Given the description of an element on the screen output the (x, y) to click on. 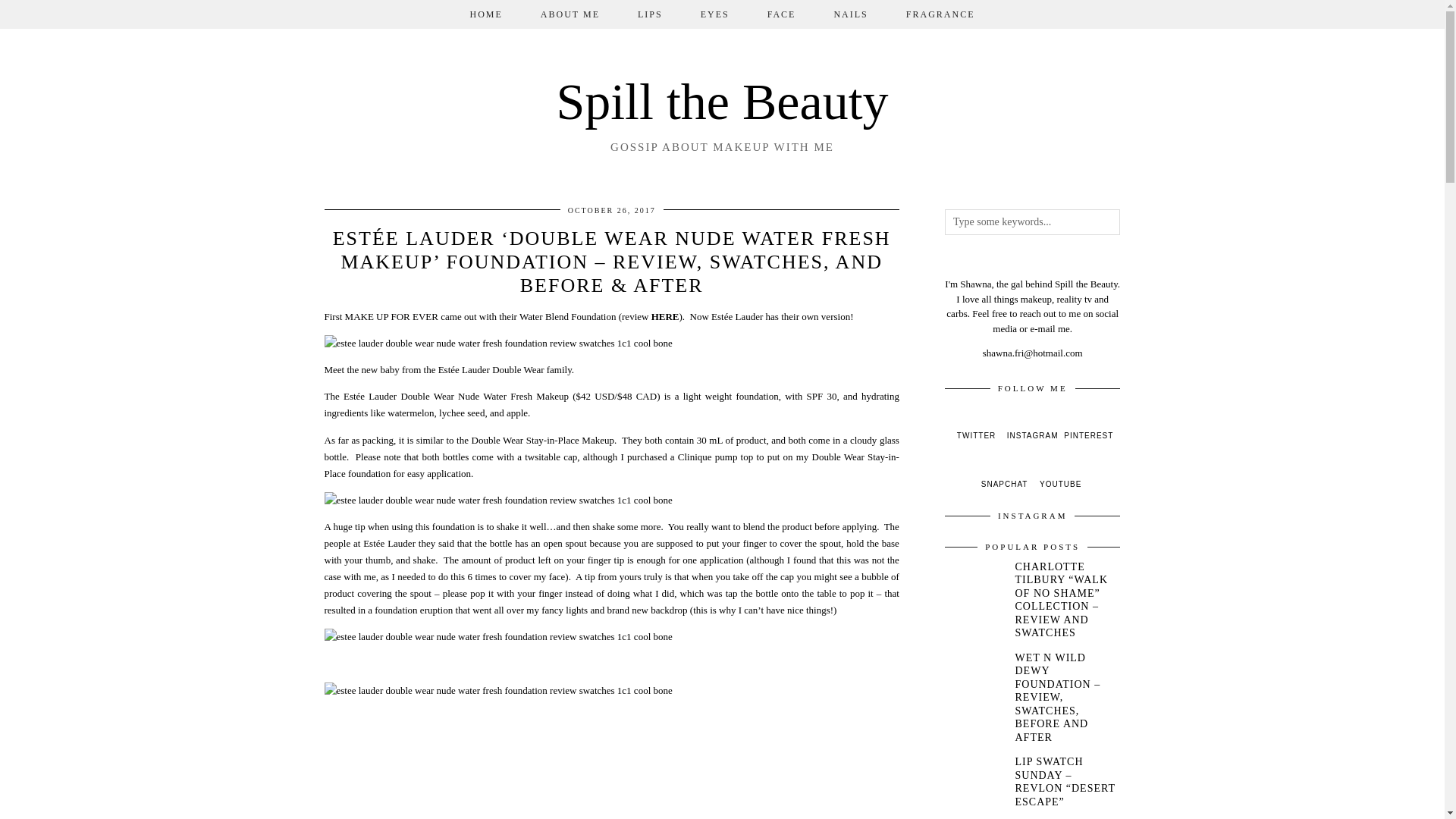
Spill the Beauty (722, 101)
EYES (714, 14)
LIPS (649, 14)
FACE (781, 14)
FRAGRANCE (940, 14)
ABOUT ME (569, 14)
TWITTER (976, 426)
